Given the description of an element on the screen output the (x, y) to click on. 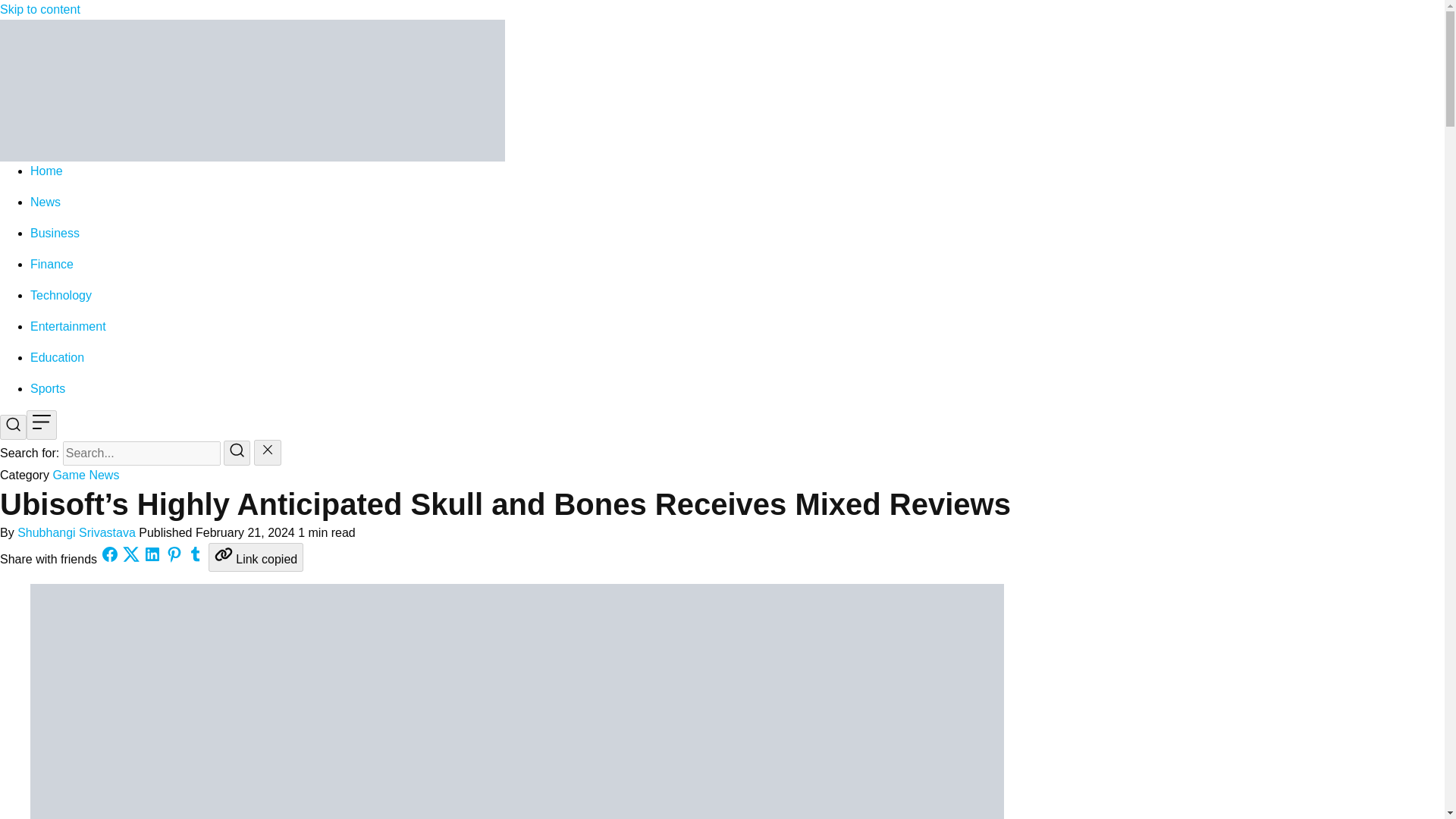
Business (55, 232)
Skip to content (40, 9)
Technology (60, 295)
Education (57, 357)
News (45, 201)
News (103, 474)
Link copied (255, 556)
Game (68, 474)
Entertainment (68, 326)
Home (46, 170)
